Given the description of an element on the screen output the (x, y) to click on. 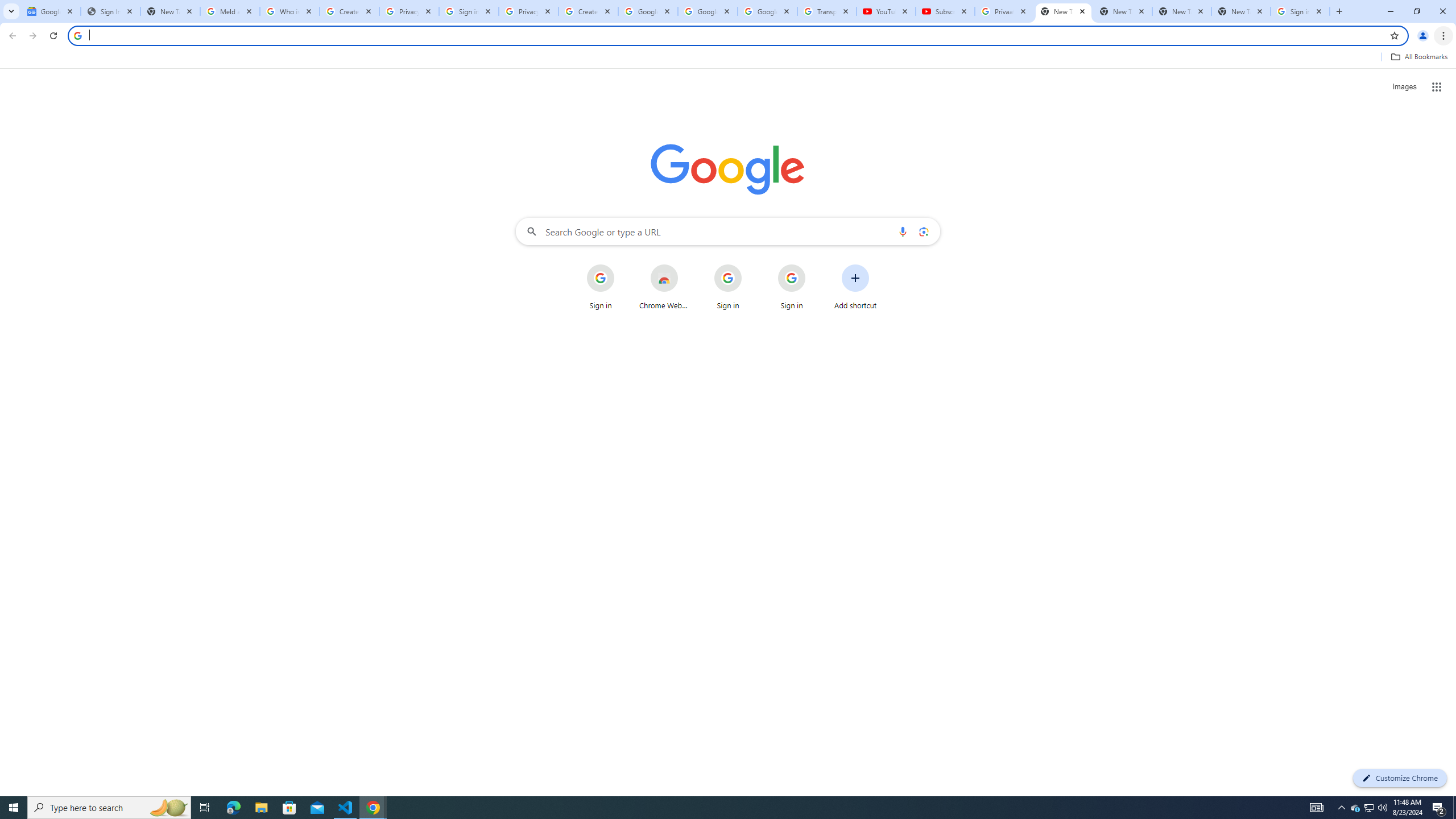
More actions for Chrome Web Store shortcut (686, 265)
Google News (50, 11)
Who is my administrator? - Google Account Help (289, 11)
Subscriptions - YouTube (944, 11)
Create your Google Account (588, 11)
Customize Chrome (1399, 778)
